Given the description of an element on the screen output the (x, y) to click on. 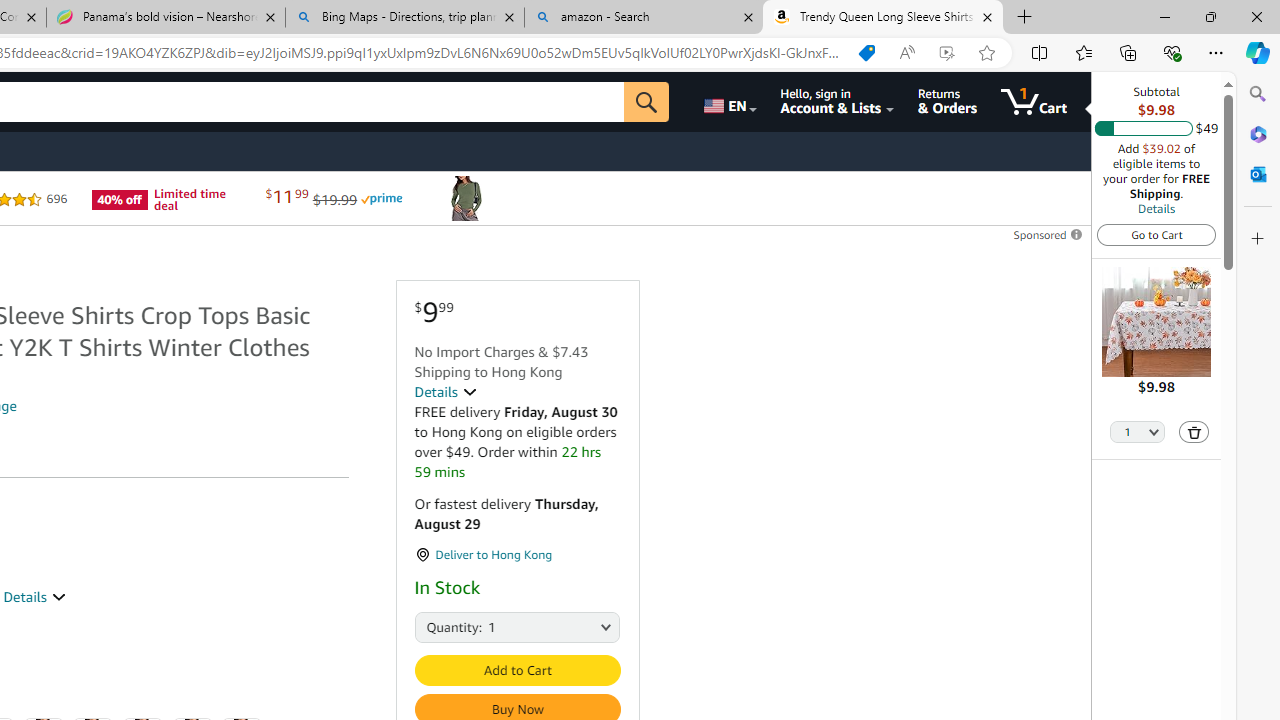
Hello, sign in Account & Lists (836, 101)
You have the best price! (867, 53)
amazon - Search (643, 17)
Prime (381, 198)
